Given the description of an element on the screen output the (x, y) to click on. 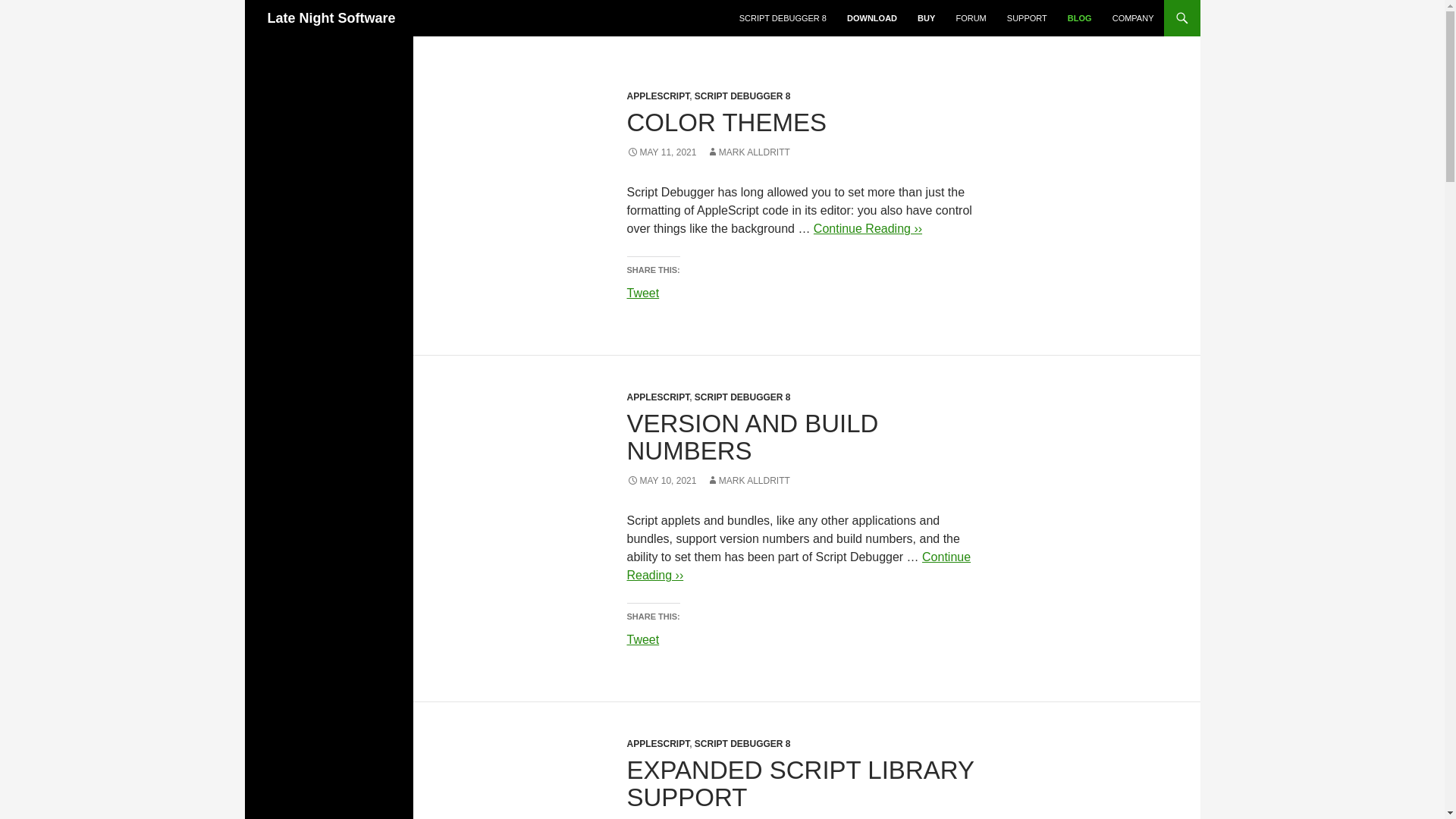
SCRIPT DEBUGGER 8 (782, 18)
EXPANDED SCRIPT LIBRARY SUPPORT (800, 783)
SUPPORT (1027, 18)
Late Night Software (330, 18)
BLOG (1079, 18)
MARK ALLDRITT (748, 480)
MAY 10, 2021 (660, 480)
COMPANY (1133, 18)
SCRIPT DEBUGGER 8 (742, 397)
COLOR THEMES (725, 122)
